Given the description of an element on the screen output the (x, y) to click on. 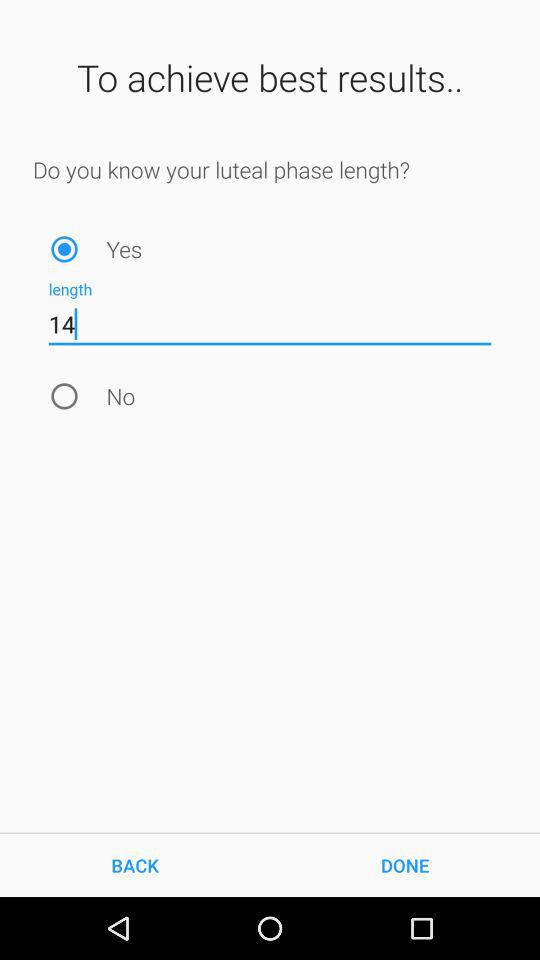
turn off the item next to back (405, 864)
